Given the description of an element on the screen output the (x, y) to click on. 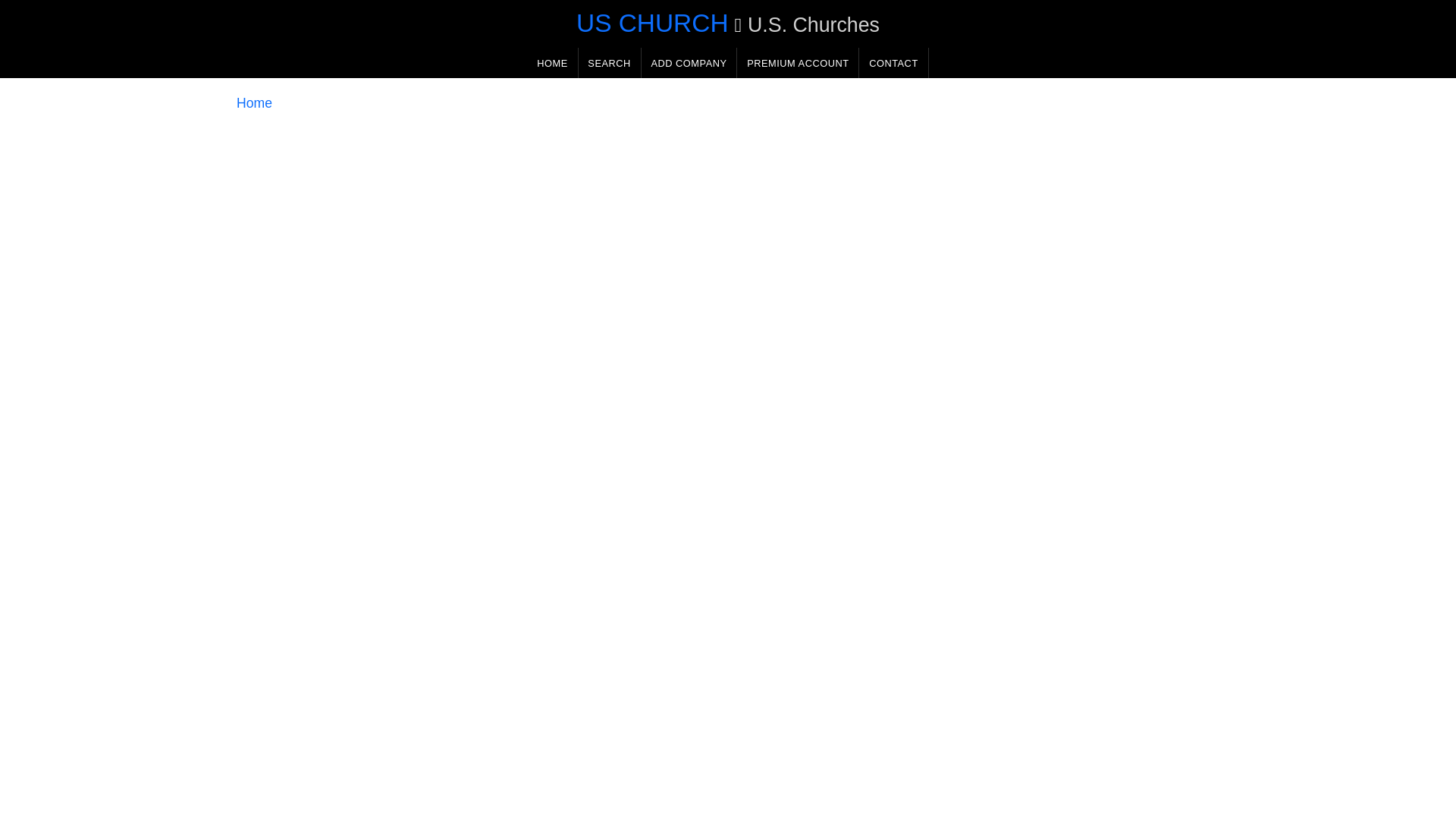
Premium account (797, 62)
Search in this webseite. (609, 62)
HOME (551, 62)
Add a new company (689, 62)
PREMIUM ACCOUNT (797, 62)
US CHURCH (652, 22)
ADD COMPANY (689, 62)
SEARCH (609, 62)
CONTACT (893, 62)
Home (253, 102)
